Given the description of an element on the screen output the (x, y) to click on. 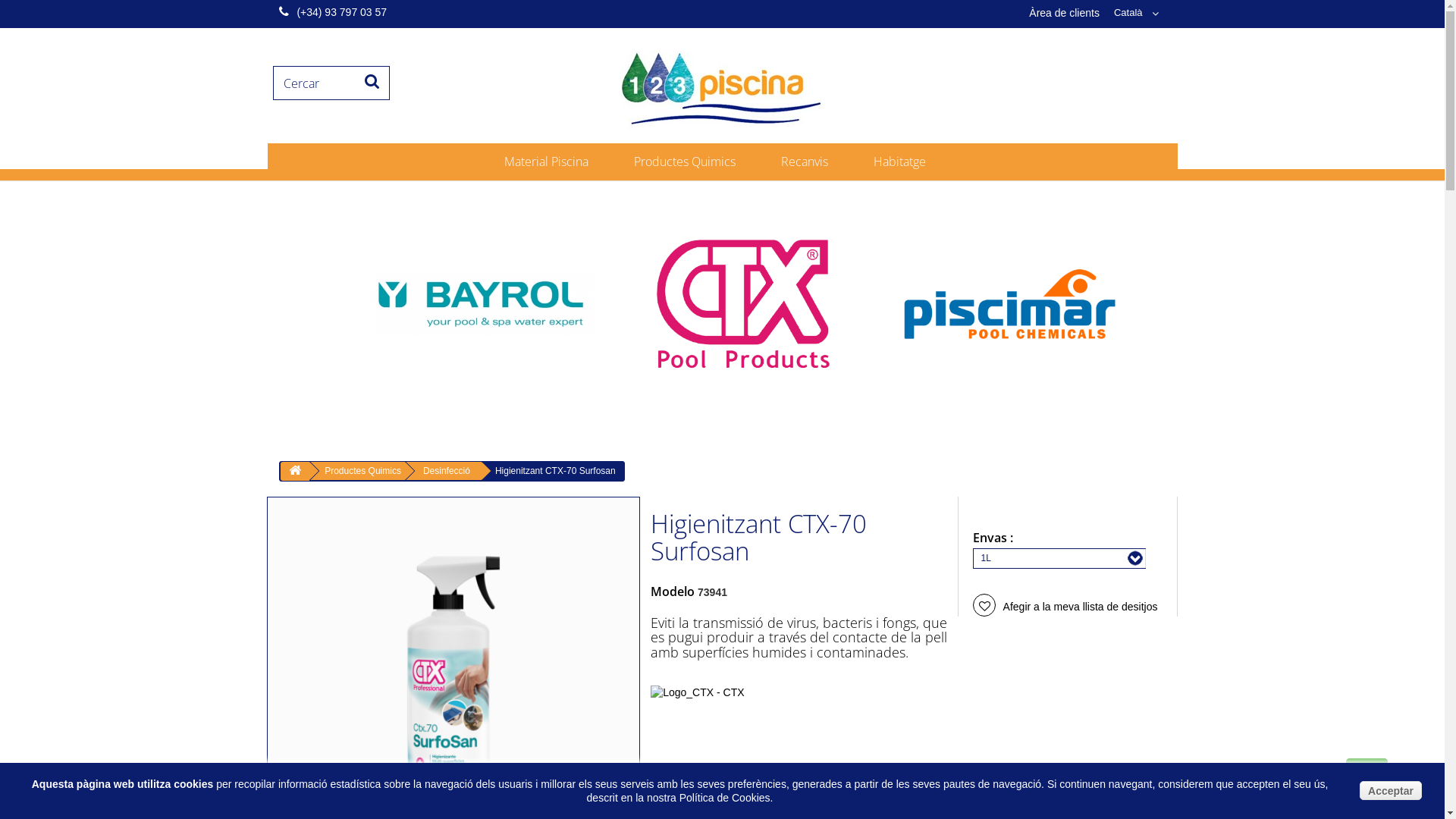
123 piscina Element type: hover (721, 84)
Pinterest Element type: text (843, 772)
Productes Quimics Element type: text (359, 470)
CTX Professional Element type: hover (744, 303)
BAYROL Element type: hover (480, 303)
Tuit Element type: text (668, 772)
Enviar a un amic Element type: text (701, 798)
Acceptar Element type: text (1390, 790)
Afegir a la meva llista de desitjos Element type: text (1064, 606)
Material Piscina Element type: text (553, 161)
Productes Quimics Element type: text (691, 161)
Piscimar Pool Chemicals Element type: hover (1008, 303)
Habitatge Element type: text (907, 161)
Compartir Element type: text (720, 772)
Tornar a l'inici Element type: hover (294, 470)
Google+ Element type: text (782, 772)
Recanvis Element type: text (811, 161)
